Given the description of an element on the screen output the (x, y) to click on. 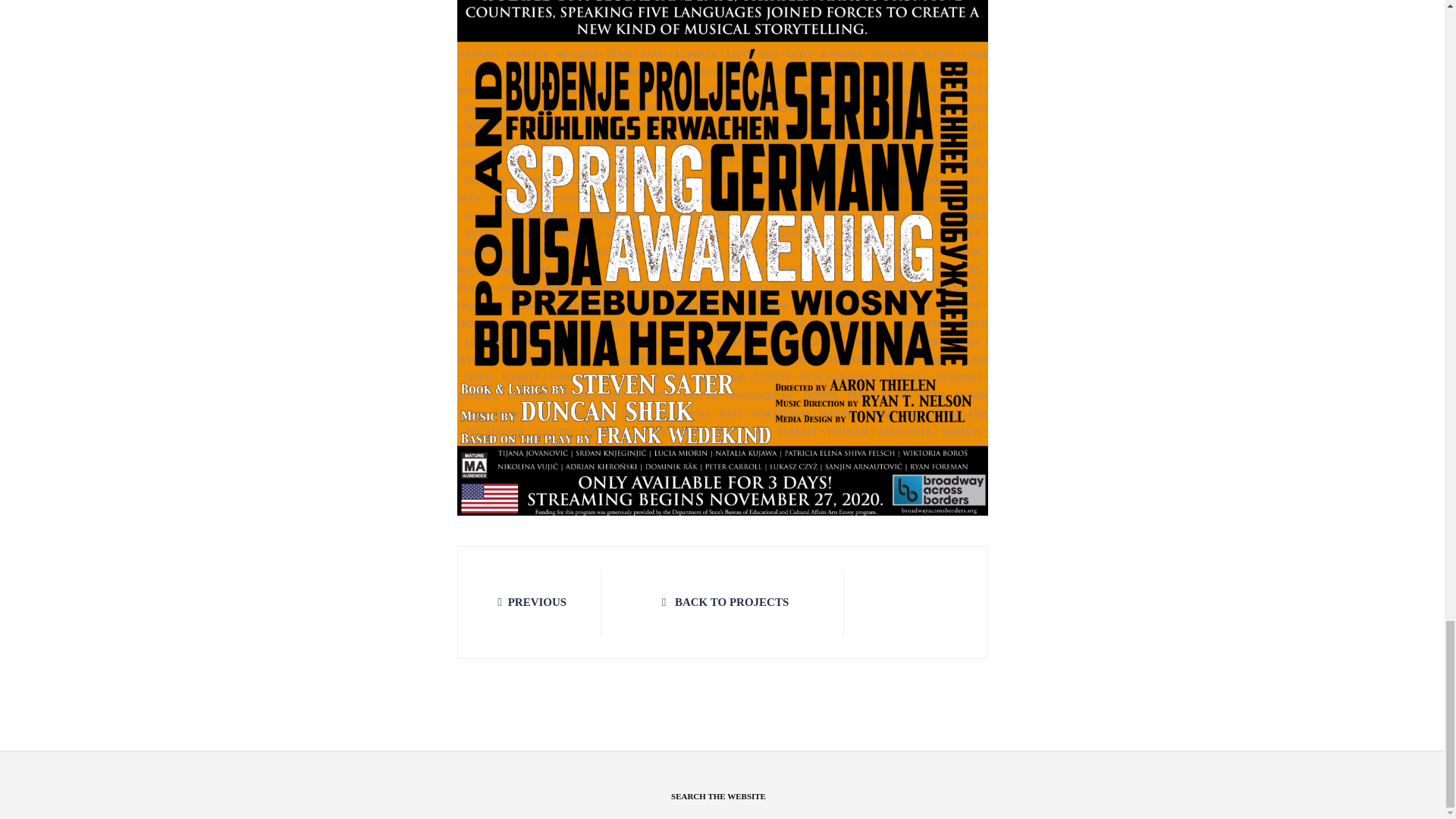
SEARCH THE WEBSITE (718, 797)
PREVIOUS (528, 602)
BACK TO PROJECTS (721, 602)
